Given the description of an element on the screen output the (x, y) to click on. 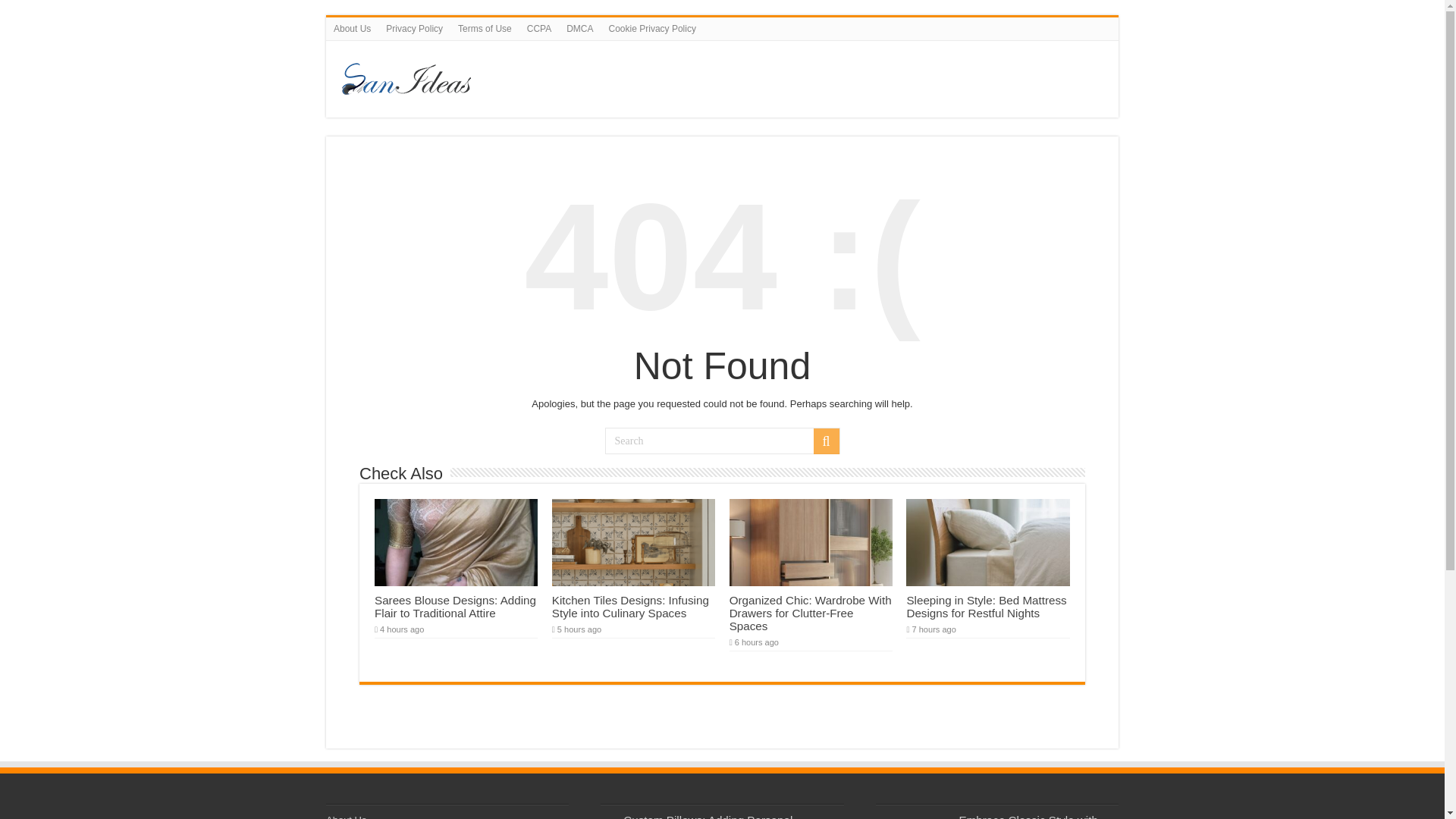
sanideas.com (640, 76)
Search (722, 440)
Sleeping in Style: Bed Mattress Designs for Restful Nights (985, 606)
About Us (346, 816)
CCPA (539, 28)
Privacy Policy (413, 28)
Cookie Privacy Policy (652, 28)
Terms of Use (484, 28)
About Us (352, 28)
